Given the description of an element on the screen output the (x, y) to click on. 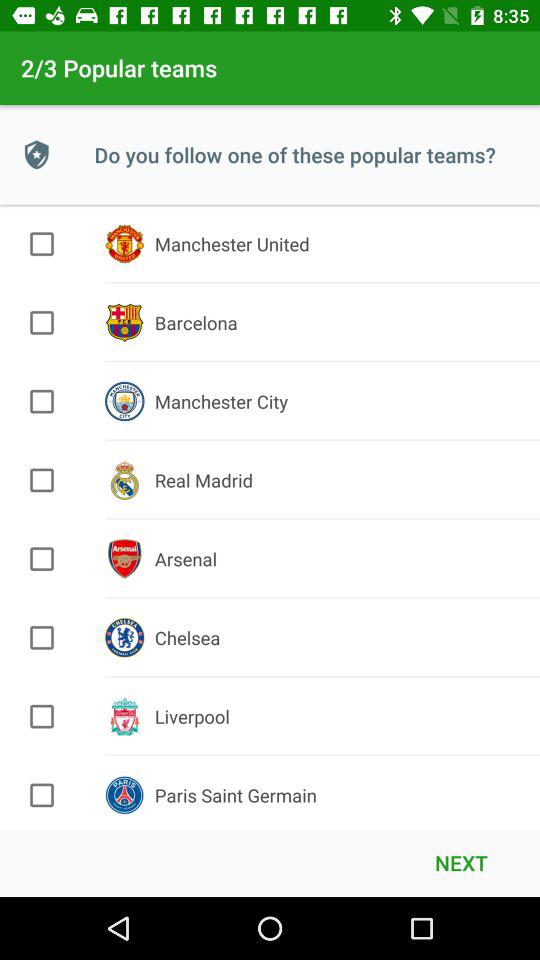
press the next (461, 862)
